Given the description of an element on the screen output the (x, y) to click on. 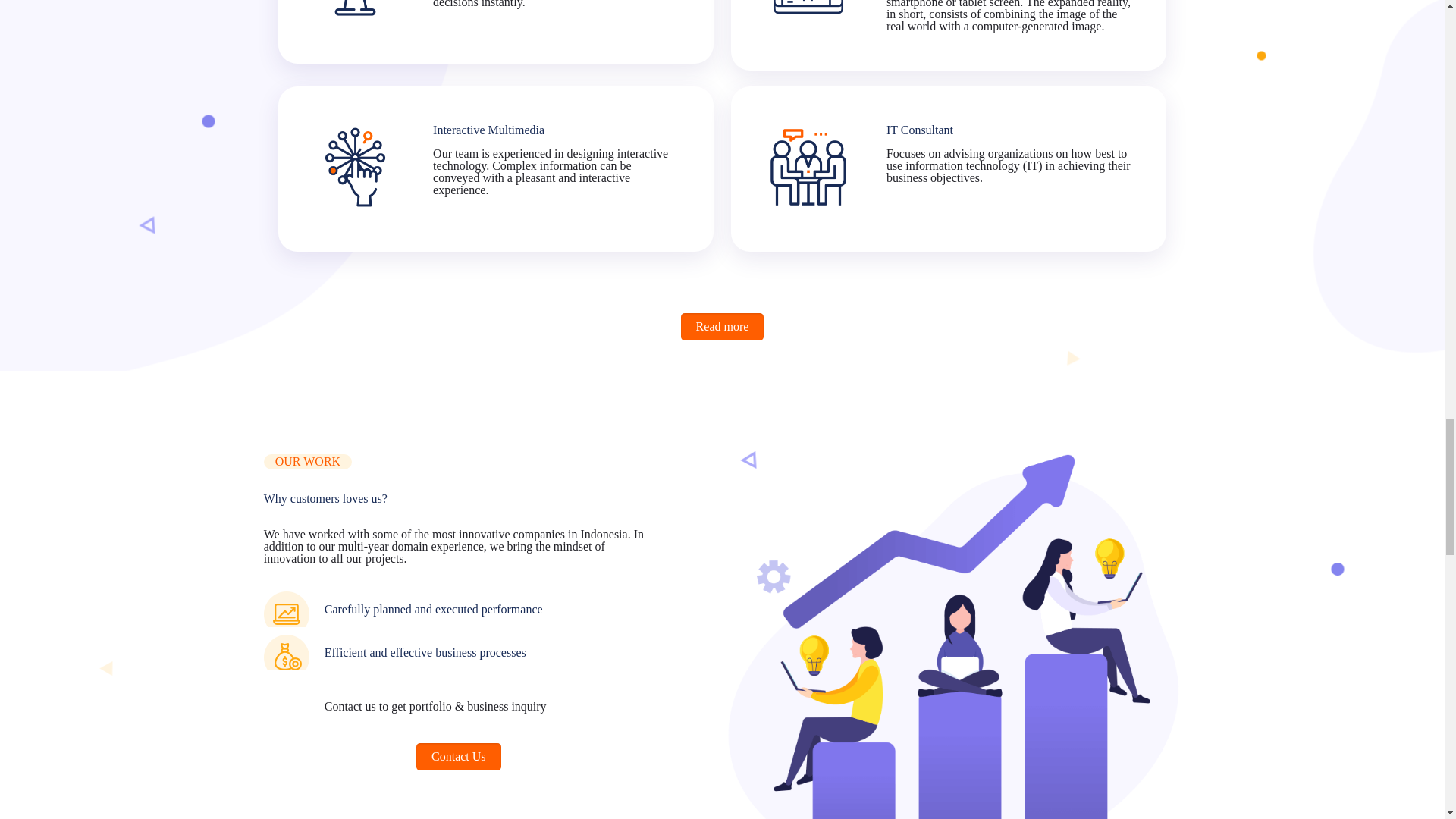
Contact Us (458, 756)
Read more (722, 326)
